Given the description of an element on the screen output the (x, y) to click on. 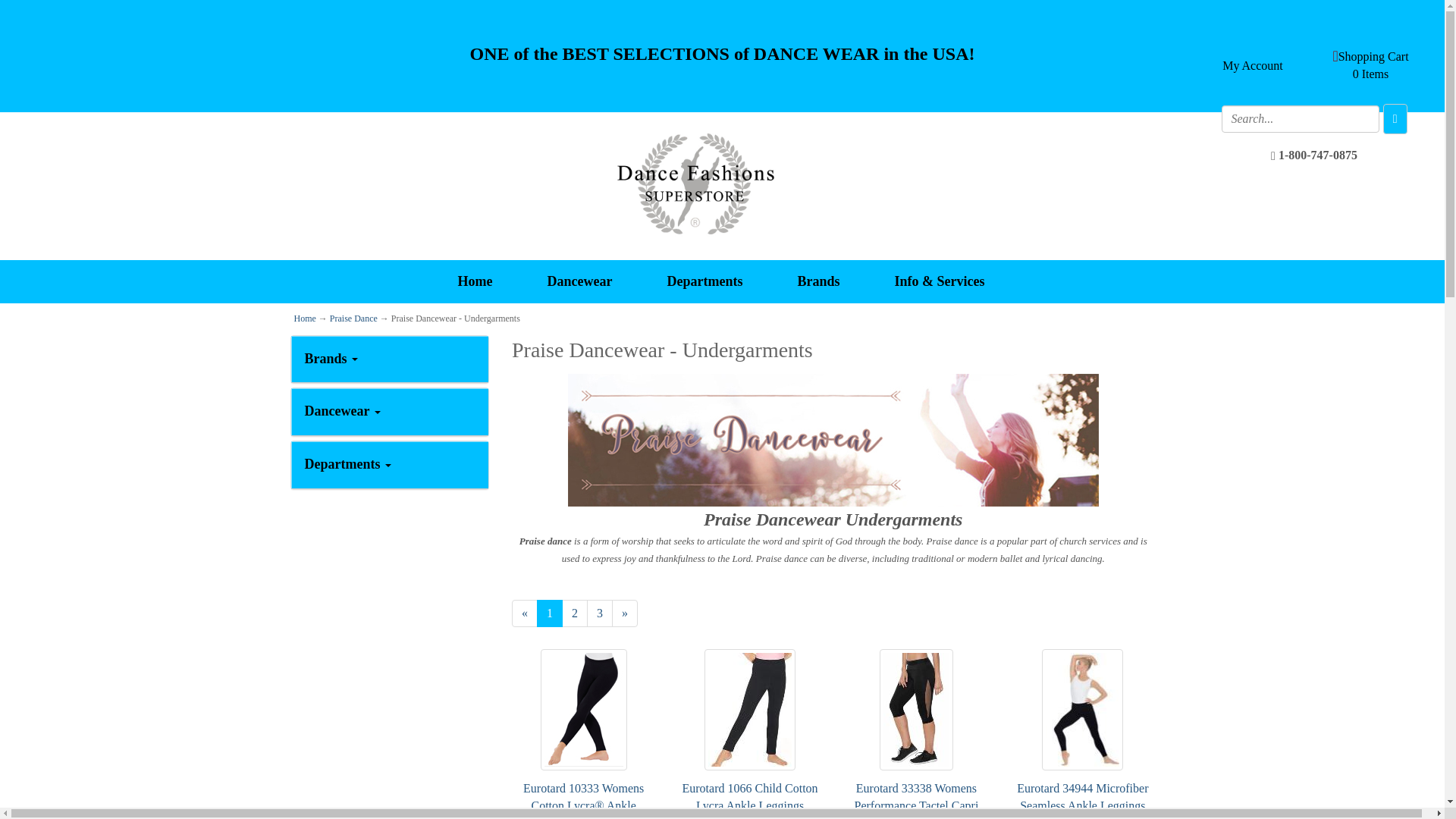
Home (475, 281)
DanceFashionsSuperstore.com (696, 184)
Dancewear (579, 281)
My Account (1247, 66)
